Given the description of an element on the screen output the (x, y) to click on. 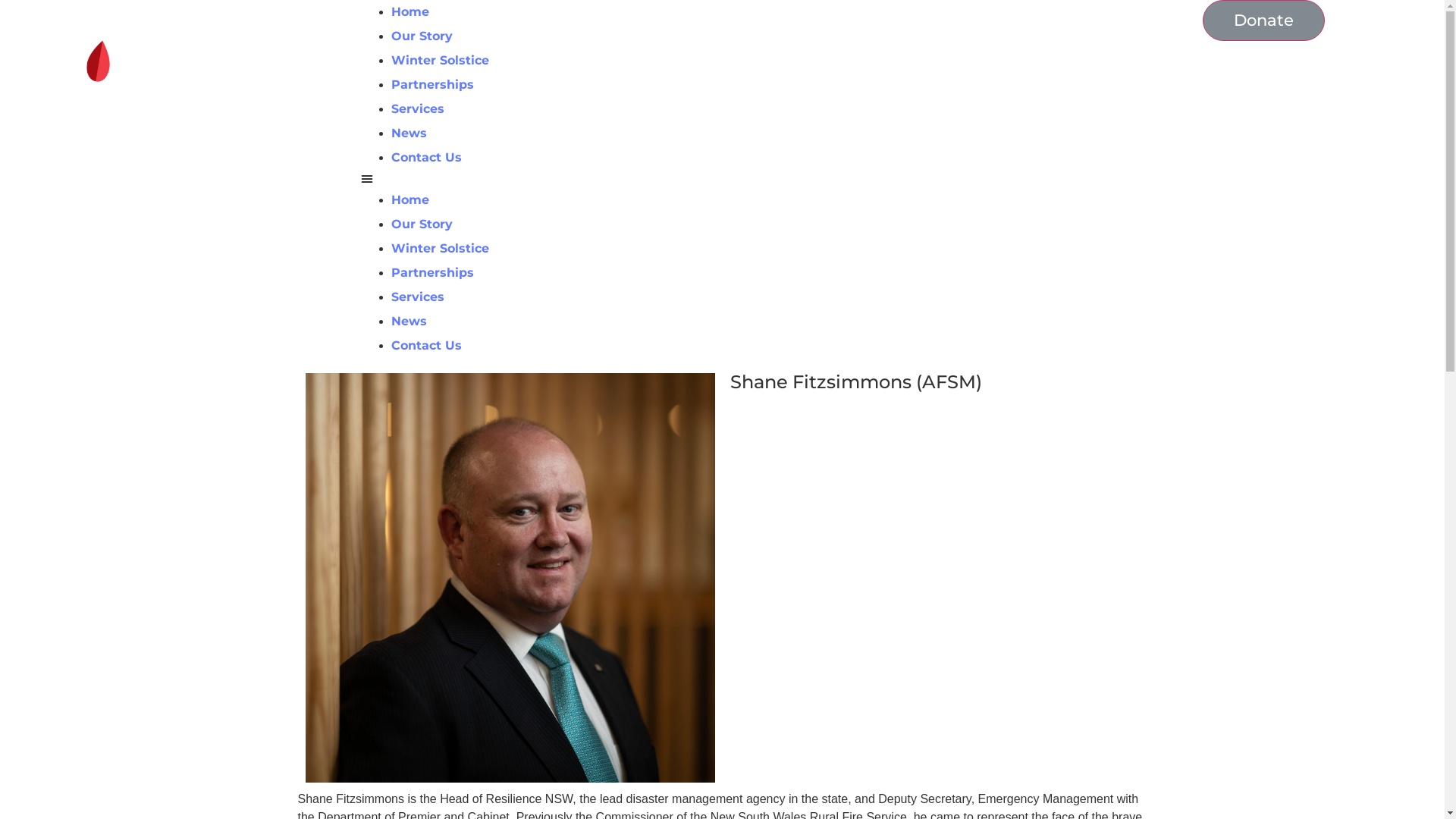
News Element type: text (408, 132)
Partnerships Element type: text (432, 84)
Home Element type: text (410, 11)
Services Element type: text (417, 296)
Donate Element type: text (1263, 20)
Our Story Element type: text (421, 35)
Services Element type: text (417, 108)
Partnerships Element type: text (432, 272)
News Element type: text (408, 320)
Our Story Element type: text (421, 223)
Winter Solstice Element type: text (440, 60)
Winter Solstice Element type: text (440, 248)
Contact Us Element type: text (426, 345)
Home Element type: text (410, 199)
Contact Us Element type: text (426, 157)
